Given the description of an element on the screen output the (x, y) to click on. 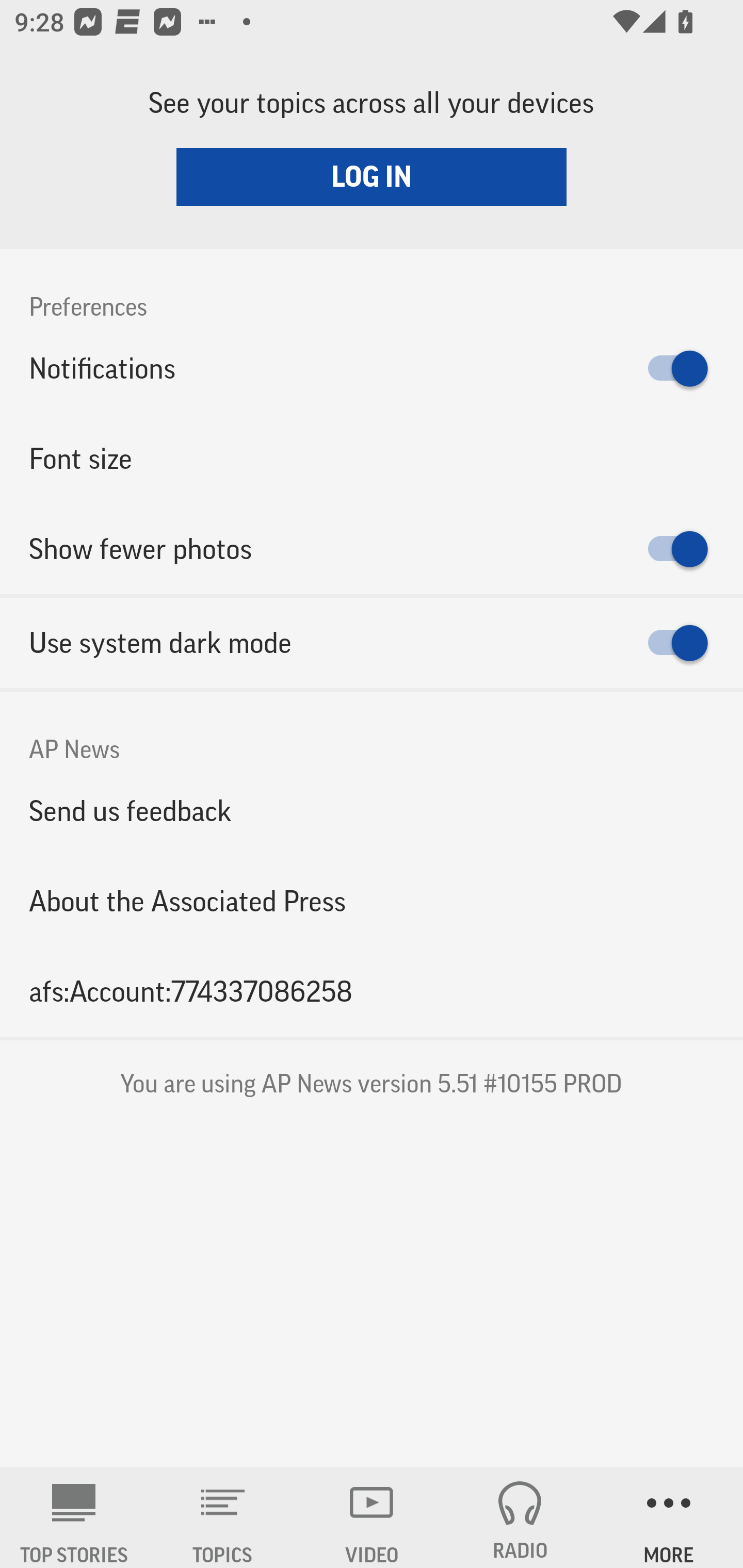
LOG IN (371, 176)
Notifications (371, 368)
Font size (371, 458)
Show fewer photos (371, 548)
Use system dark mode (371, 642)
Send us feedback (371, 810)
About the Associated Press (371, 901)
afs:Account:774337086258 (371, 991)
AP News TOP STORIES (74, 1517)
TOPICS (222, 1517)
VIDEO (371, 1517)
RADIO (519, 1517)
MORE (668, 1517)
